Given the description of an element on the screen output the (x, y) to click on. 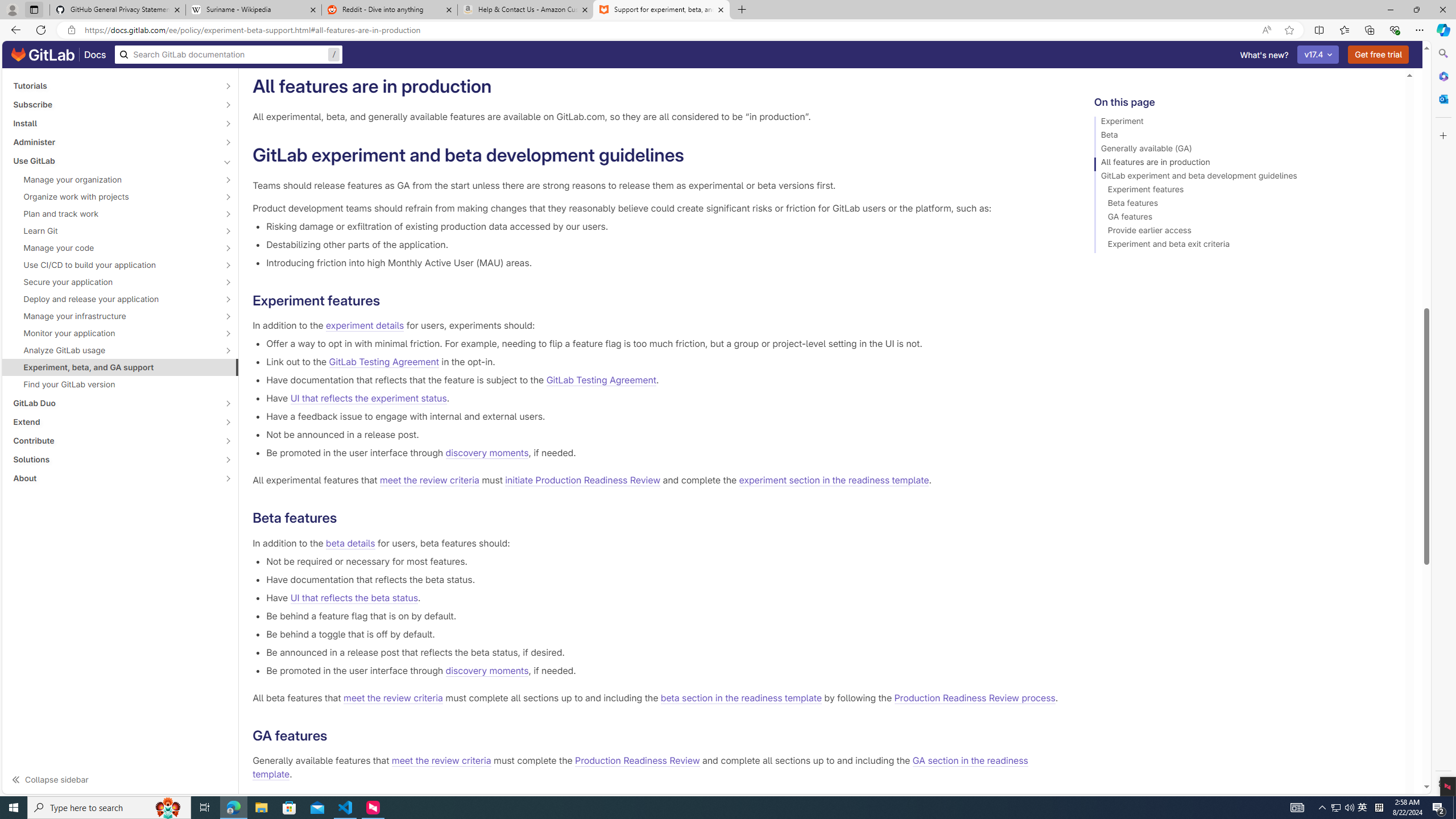
Experiment (1244, 123)
Experiment, beta, and GA support (120, 366)
beta section in the readiness template (741, 697)
Have documentation that reflects the beta status. (662, 579)
Install (113, 122)
initiate Production Readiness Review (583, 480)
Find your GitLab version (120, 384)
Beta features (1244, 205)
Use GitLab (113, 160)
GitLab Testing Agreement (601, 380)
Contribute (113, 440)
Provide earlier access (1244, 232)
Manage your infrastructure (113, 316)
